Given the description of an element on the screen output the (x, y) to click on. 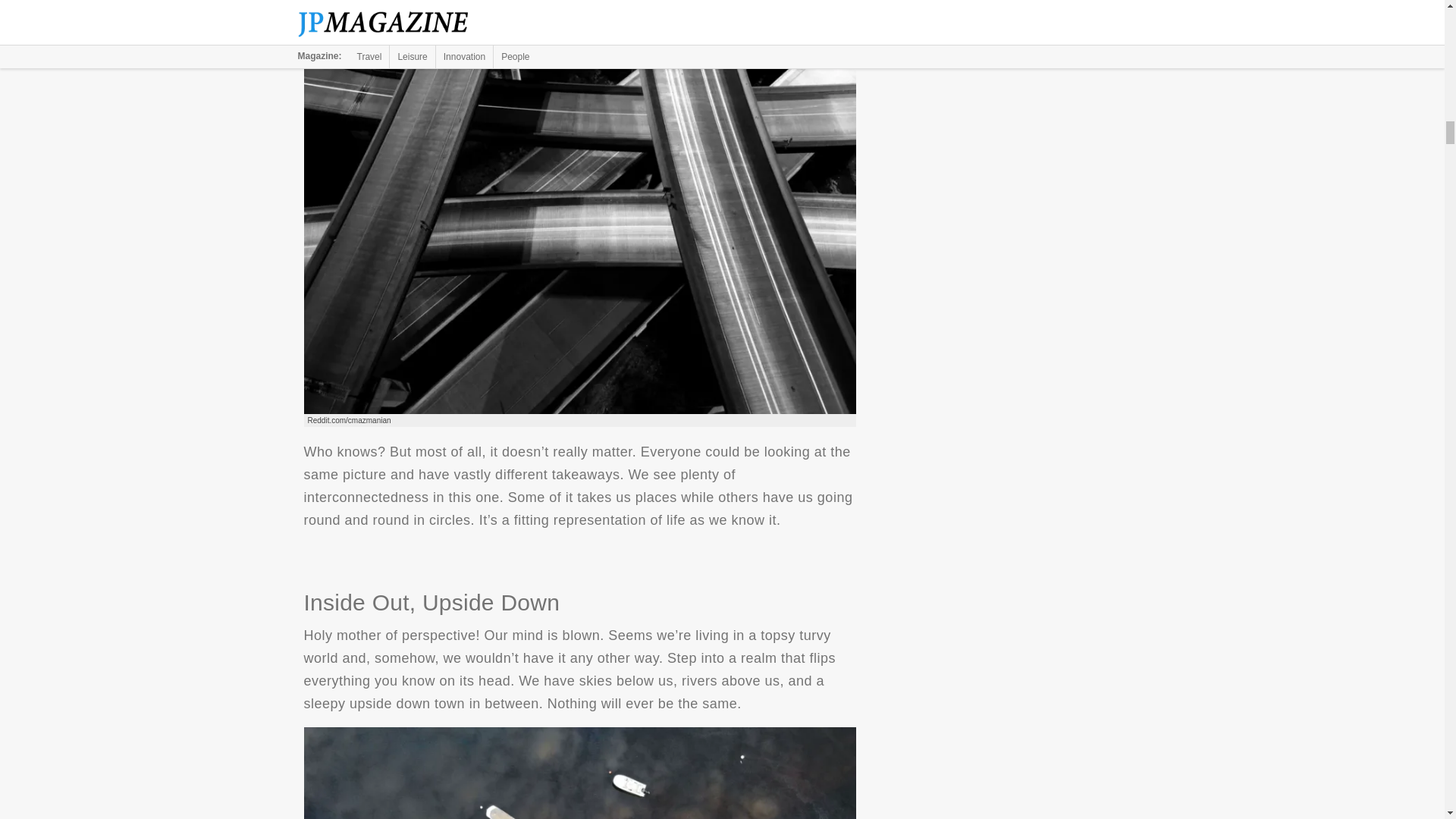
Inside Out, Upside Down (579, 773)
